Given the description of an element on the screen output the (x, y) to click on. 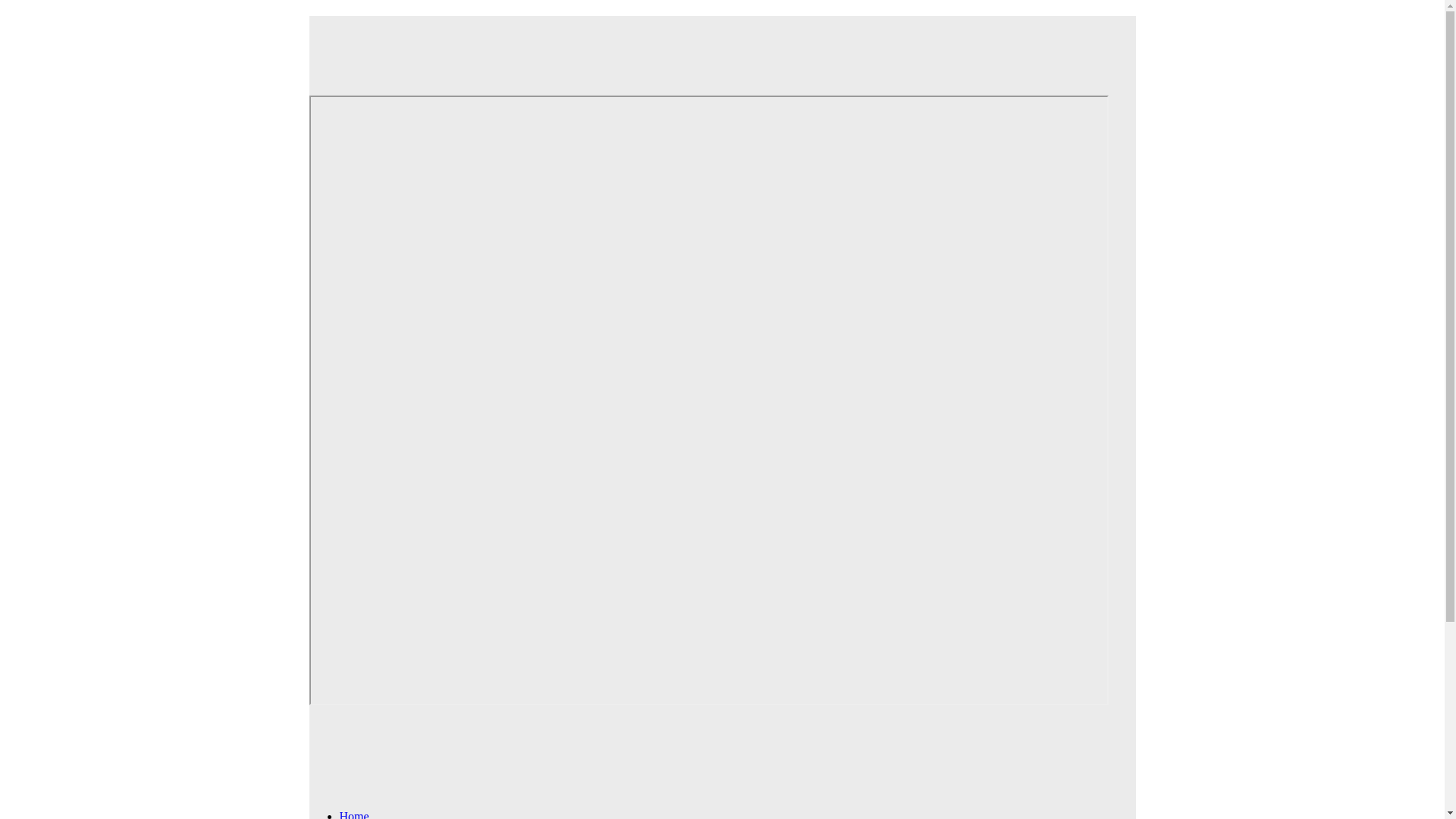
Web Hosting from Just Host Element type: text (707, 44)
